Given the description of an element on the screen output the (x, y) to click on. 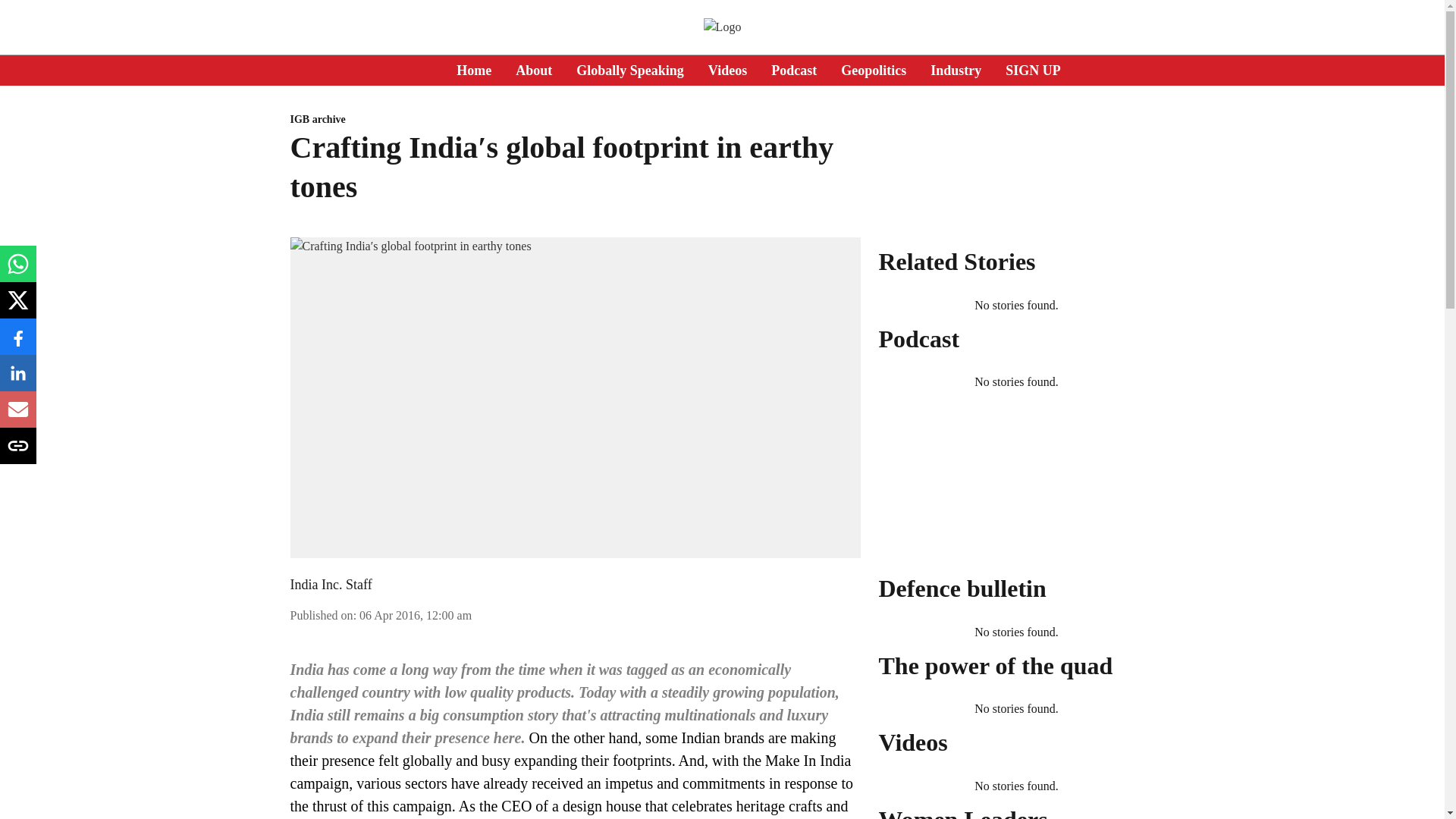
Globally Speaking (630, 70)
Industry (955, 70)
Videos (726, 70)
Podcast (793, 70)
2016-04-06 00:00 (415, 615)
Geopolitics (873, 70)
About (533, 70)
SIGN UP (1033, 70)
Home (474, 70)
